Given the description of an element on the screen output the (x, y) to click on. 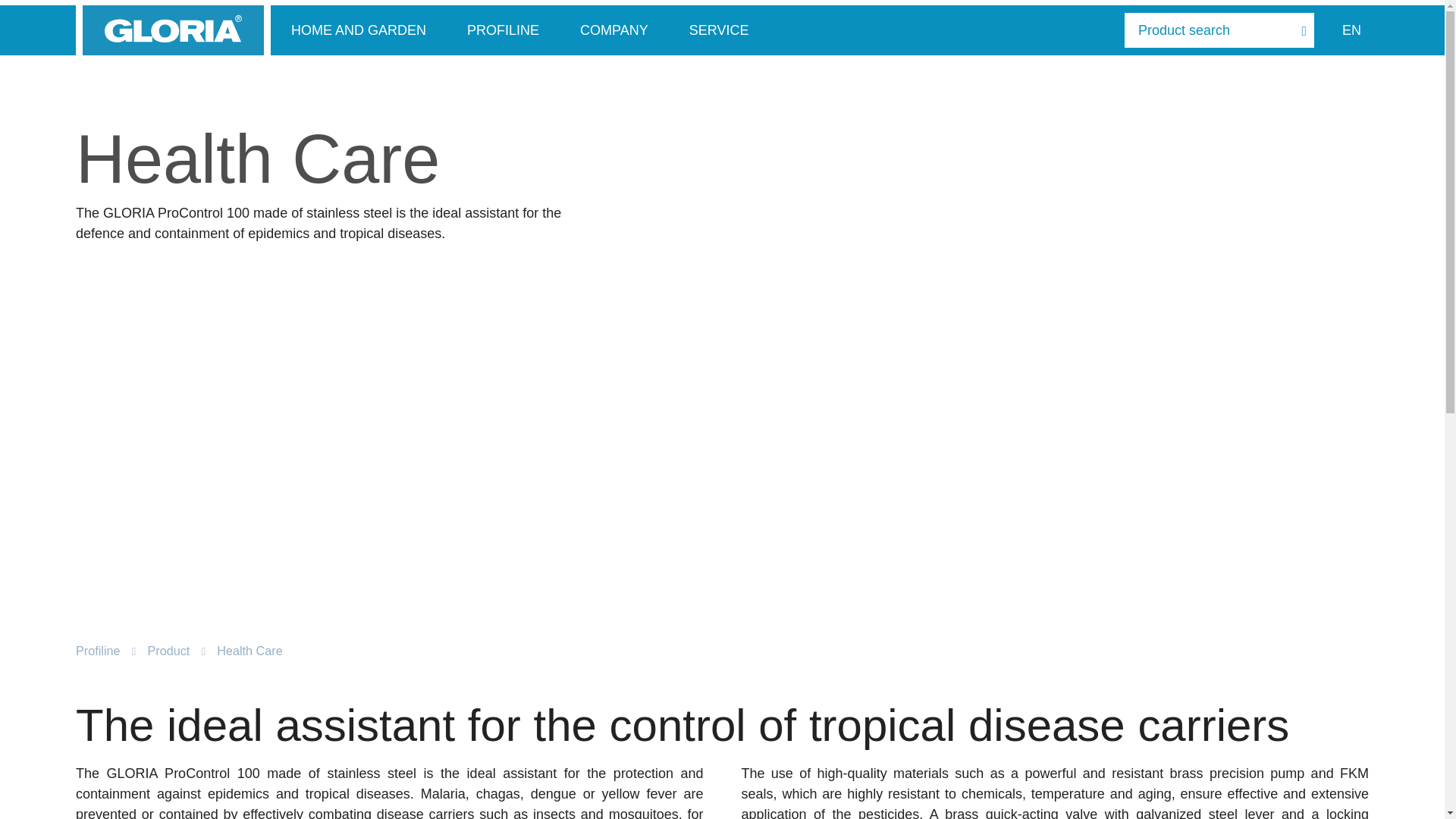
Product (168, 650)
English (1351, 30)
Health Care (249, 650)
Profiline (97, 650)
HOME AND GARDEN (357, 29)
